Given the description of an element on the screen output the (x, y) to click on. 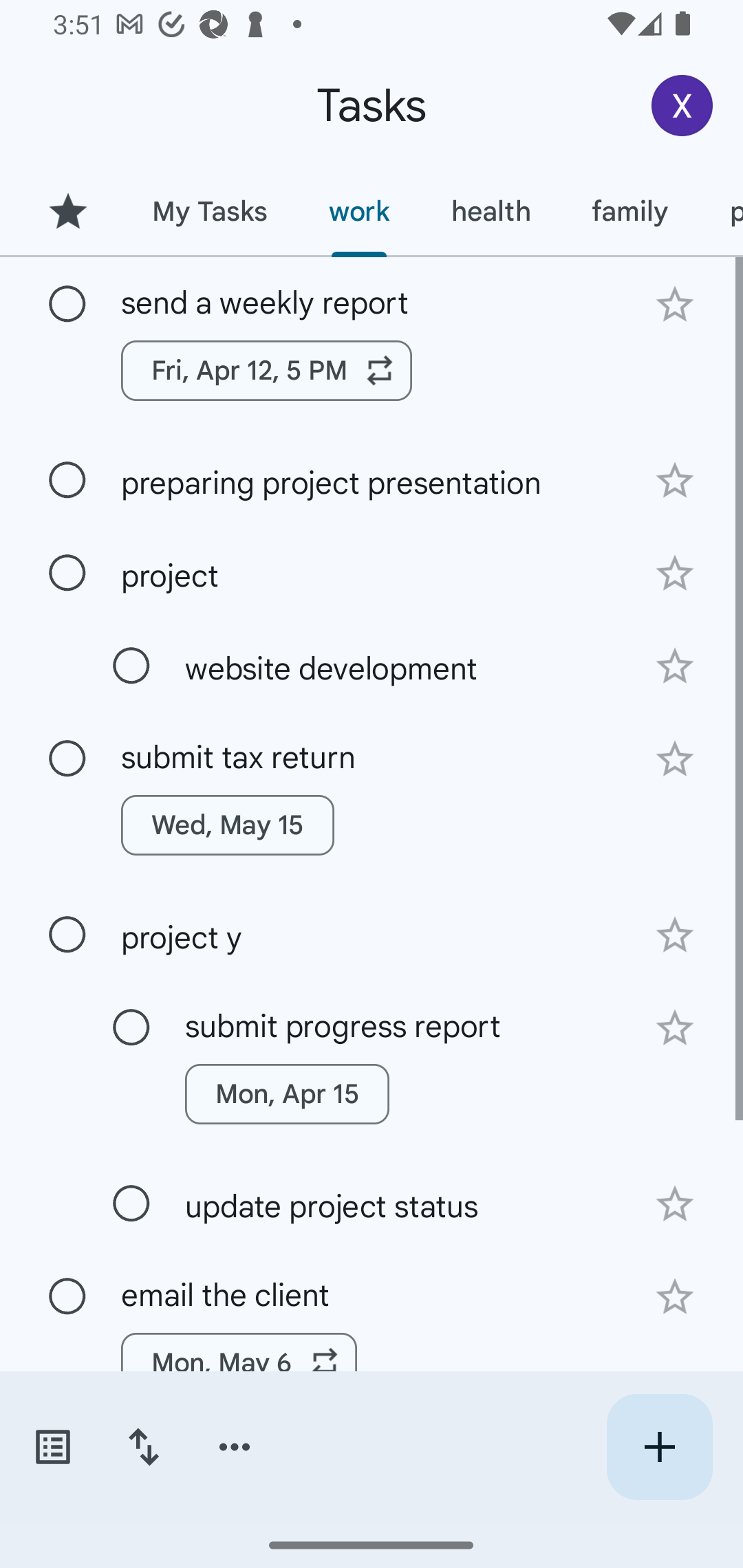
Starred (67, 211)
My Tasks (209, 211)
health (490, 211)
family (629, 211)
Add star (674, 303)
Mark as complete (67, 304)
Fri, Apr 12, 5 PM (266, 369)
Add star (674, 480)
Mark as complete (67, 480)
Add star (674, 573)
Mark as complete (67, 572)
Add star (674, 665)
Mark as complete (131, 666)
Add star (674, 758)
Mark as complete (67, 759)
Wed, May 15 (227, 824)
Add star (674, 935)
Mark as complete (67, 935)
Add star (674, 1028)
Mark as complete (131, 1027)
Mon, Apr 15 (287, 1093)
Add star (674, 1203)
Mark as complete (131, 1204)
Add star (674, 1296)
Mark as complete (67, 1297)
Mon, May 6 (239, 1362)
Switch task lists (52, 1447)
Create new task (659, 1446)
Change sort order (143, 1446)
More options (234, 1446)
